Given the description of an element on the screen output the (x, y) to click on. 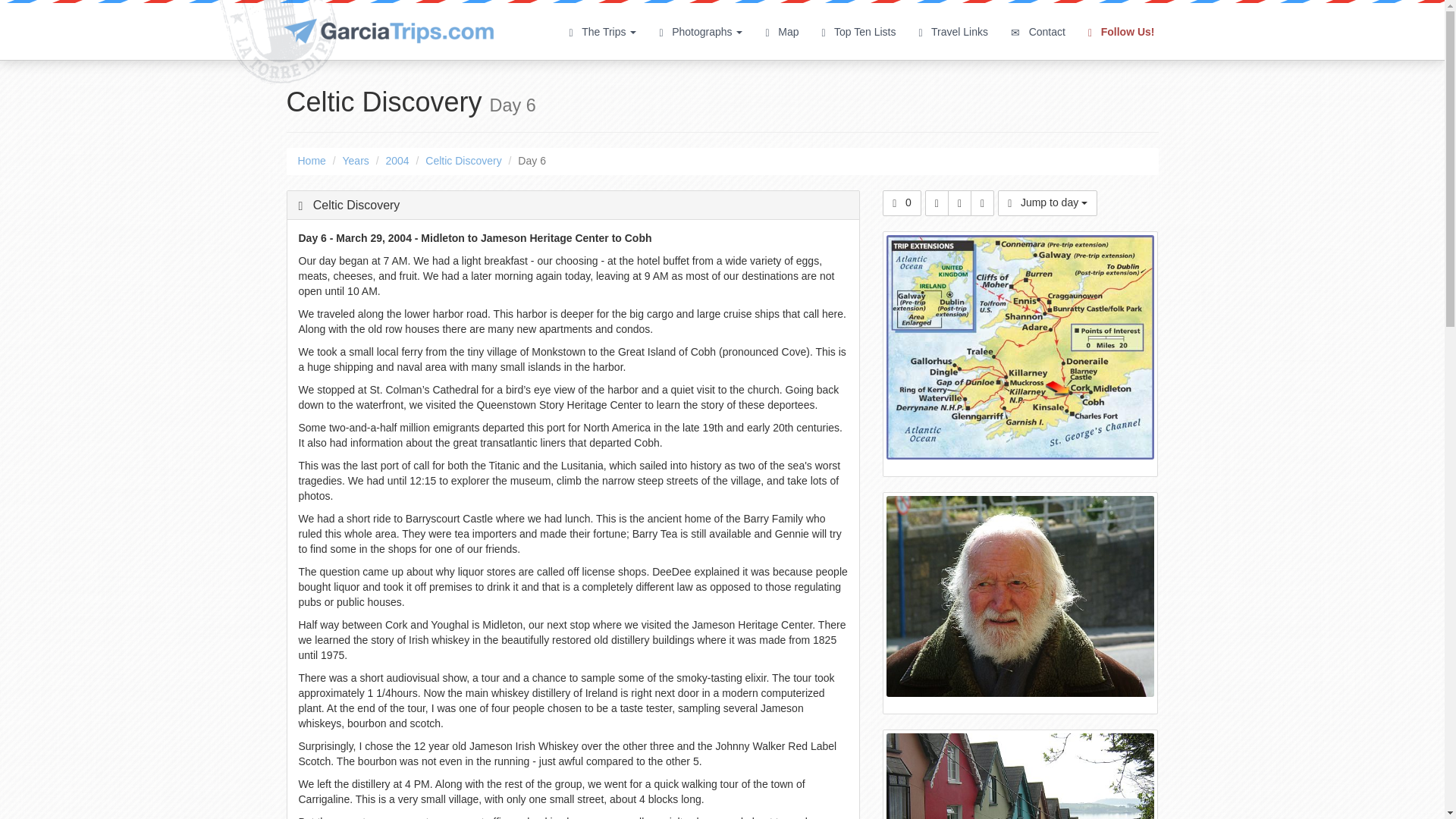
  0 (901, 203)
2004 (397, 160)
  Photographs (700, 31)
  Follow Us! (1121, 31)
  Map (781, 31)
Years (355, 160)
  Travel Links (952, 31)
  The Trips (602, 31)
Celtic Discovery (462, 160)
  Jump to day (1047, 203)
Home (310, 160)
  Top Ten Lists (858, 31)
  Contact (1037, 31)
